Given the description of an element on the screen output the (x, y) to click on. 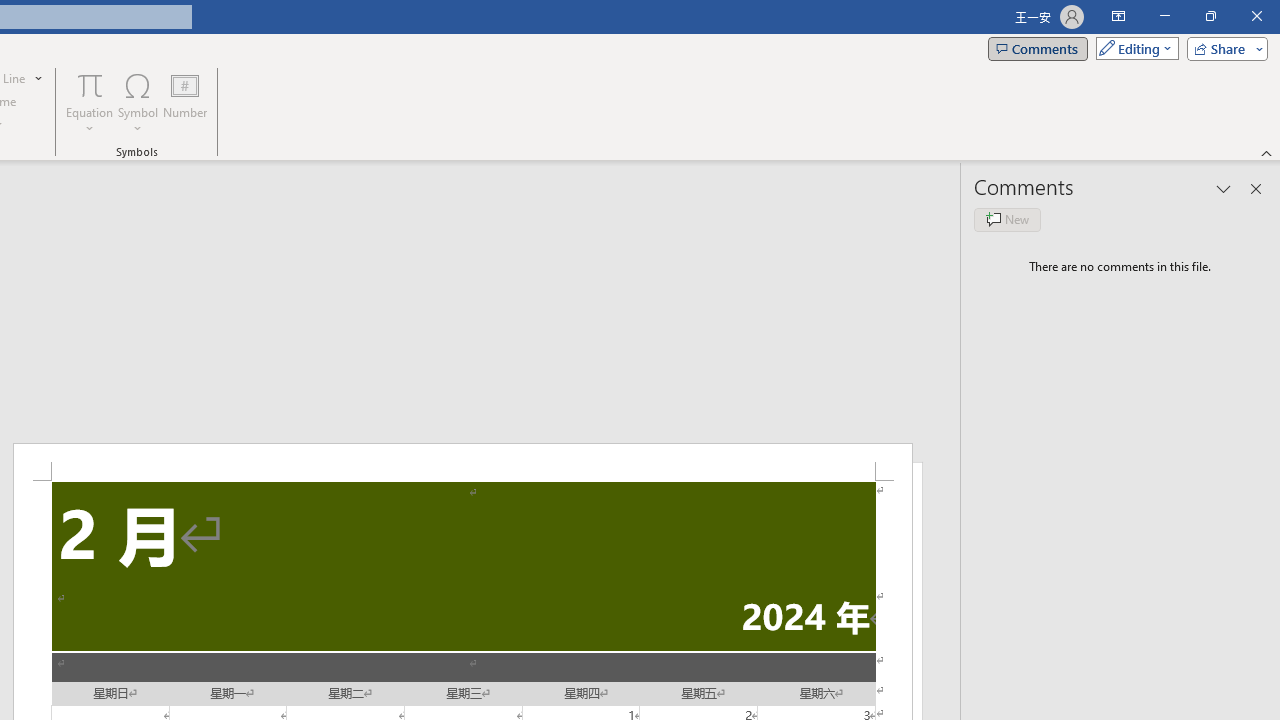
Symbol (138, 102)
